Given the description of an element on the screen output the (x, y) to click on. 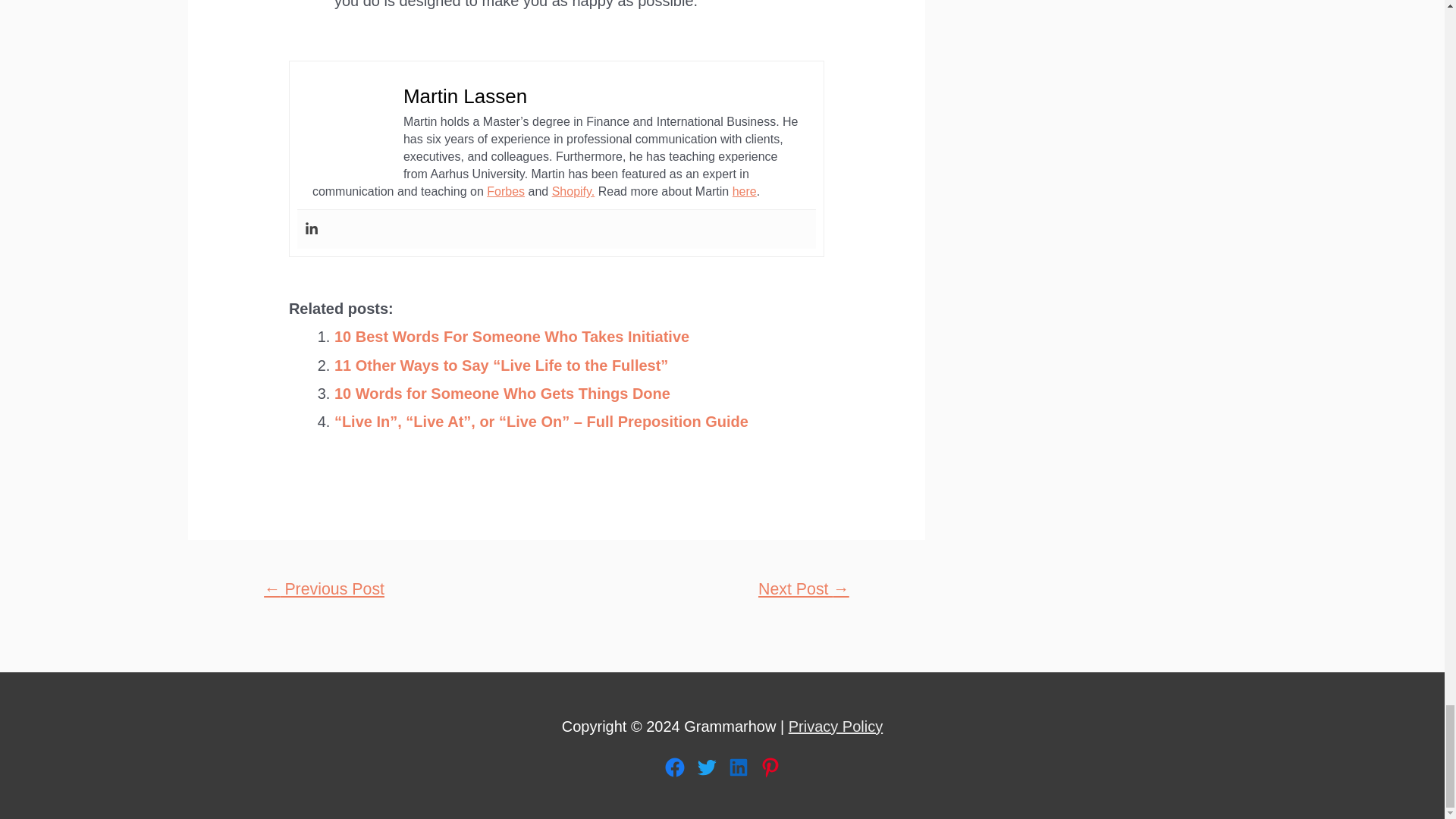
10 Words for Someone Who Gets Things Done (501, 393)
Martin Lassen (465, 96)
10 Best Words For Someone Who Takes Initiative (511, 336)
Twitter (705, 766)
Privacy Policy (835, 726)
here (744, 191)
10 Words for Someone Who Gets Things Done (501, 393)
LinkedIn (737, 766)
Facebook (673, 766)
Shopify. (573, 191)
